Given the description of an element on the screen output the (x, y) to click on. 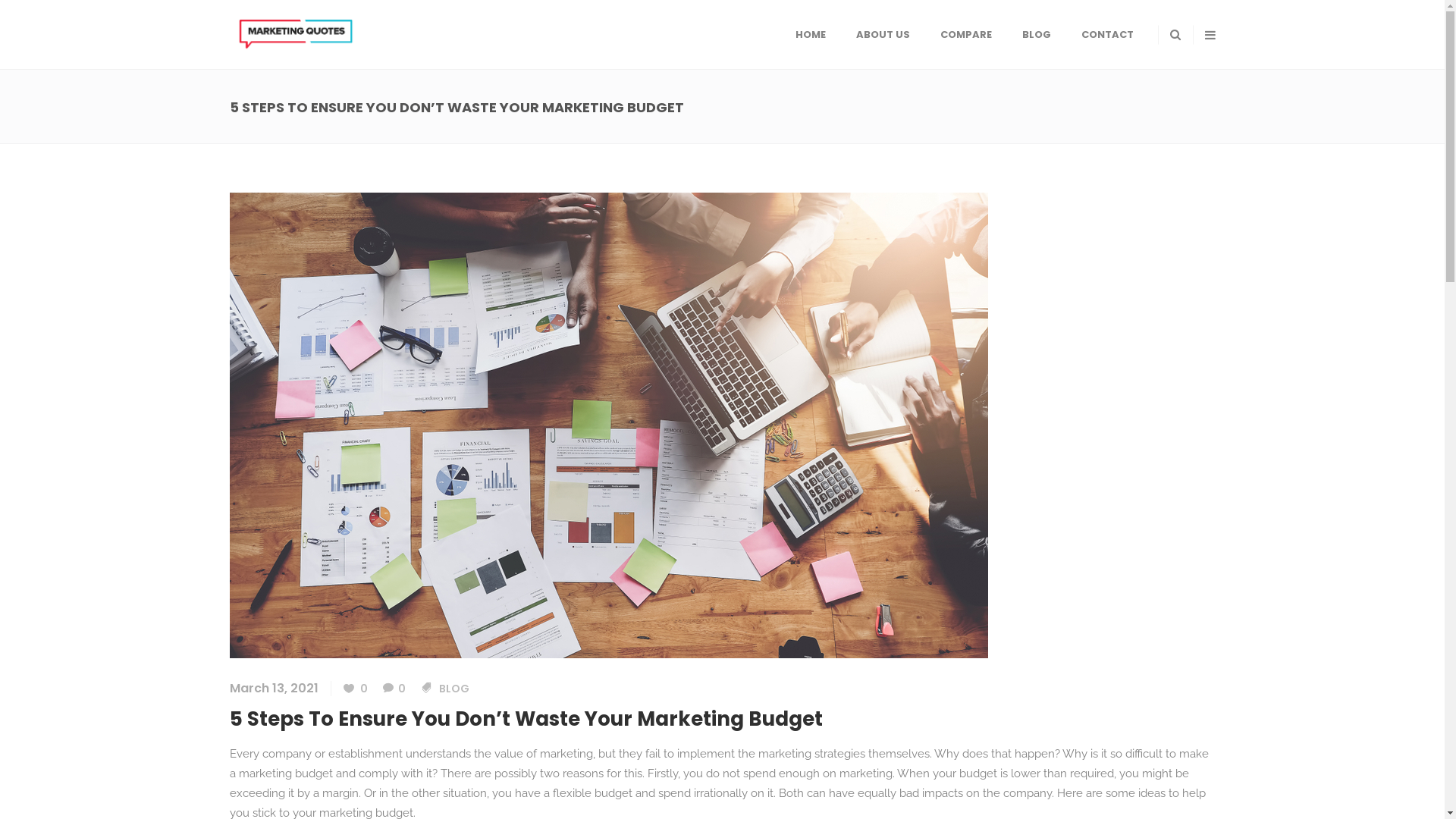
0 Element type: text (393, 688)
BLOG Element type: text (1036, 34)
COMPARE Element type: text (966, 34)
CONTACT Element type: text (1107, 34)
BLOG Element type: text (453, 688)
ABOUT US Element type: text (882, 34)
HOME Element type: text (809, 34)
Search Element type: text (1148, 93)
0 Element type: text (354, 688)
